Given the description of an element on the screen output the (x, y) to click on. 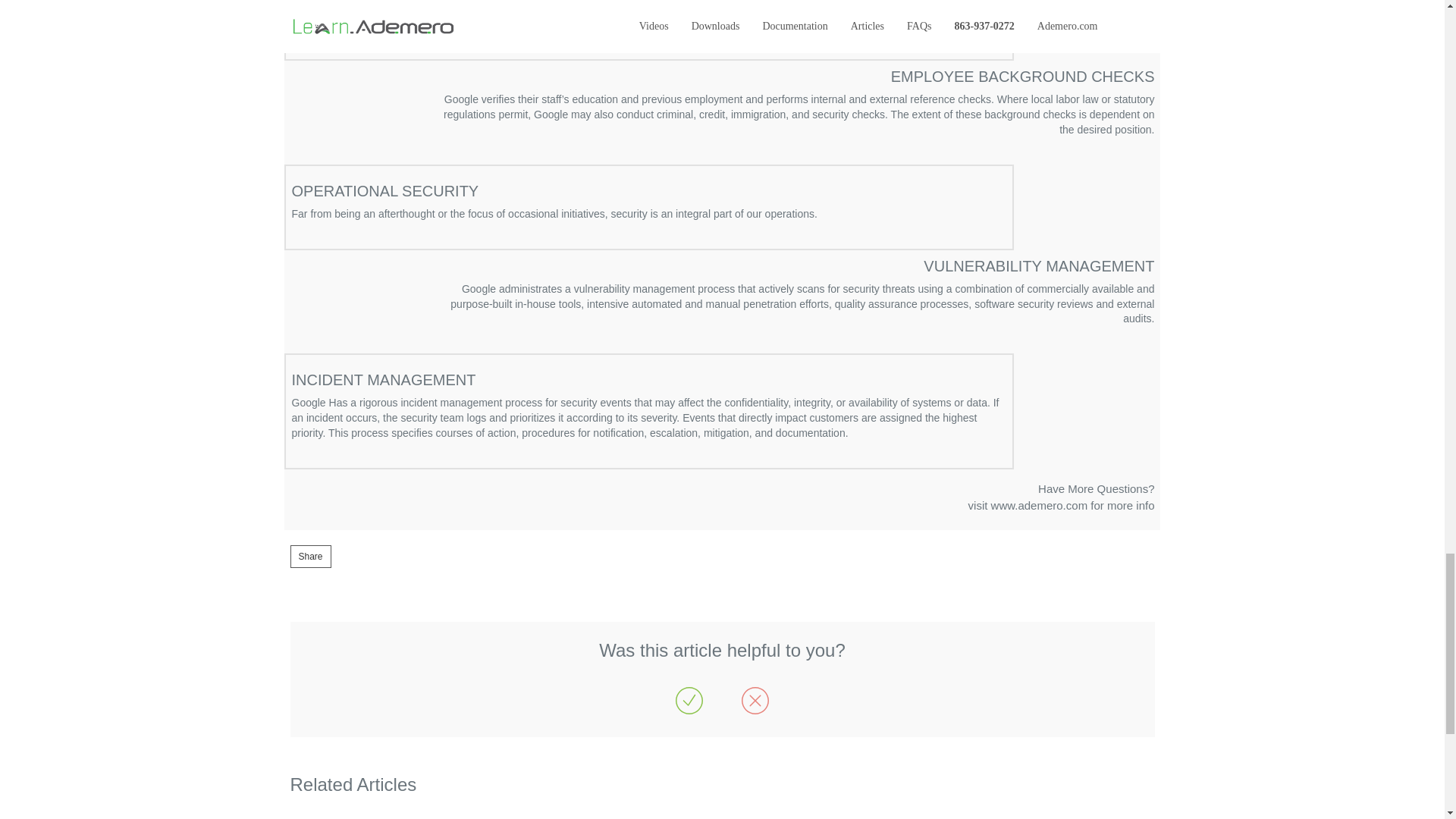
How To Edit Documents in Content Central v7 (1061, 496)
